Given the description of an element on the screen output the (x, y) to click on. 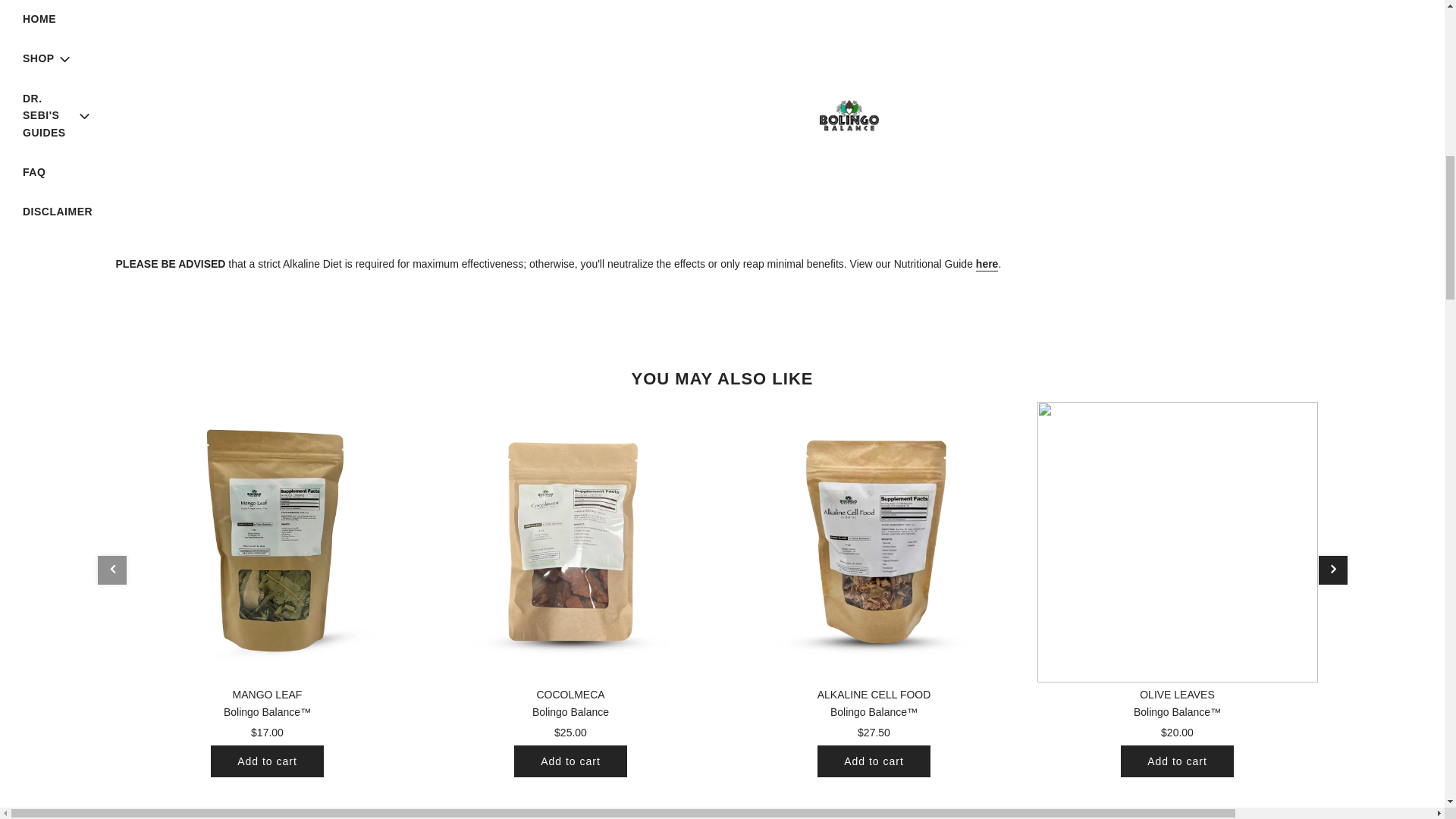
MANGO LEAF (267, 542)
ALKALINE CELL FOOD (873, 542)
COCOLMECA (570, 542)
OLIVE LEAVES (1176, 542)
